Given the description of an element on the screen output the (x, y) to click on. 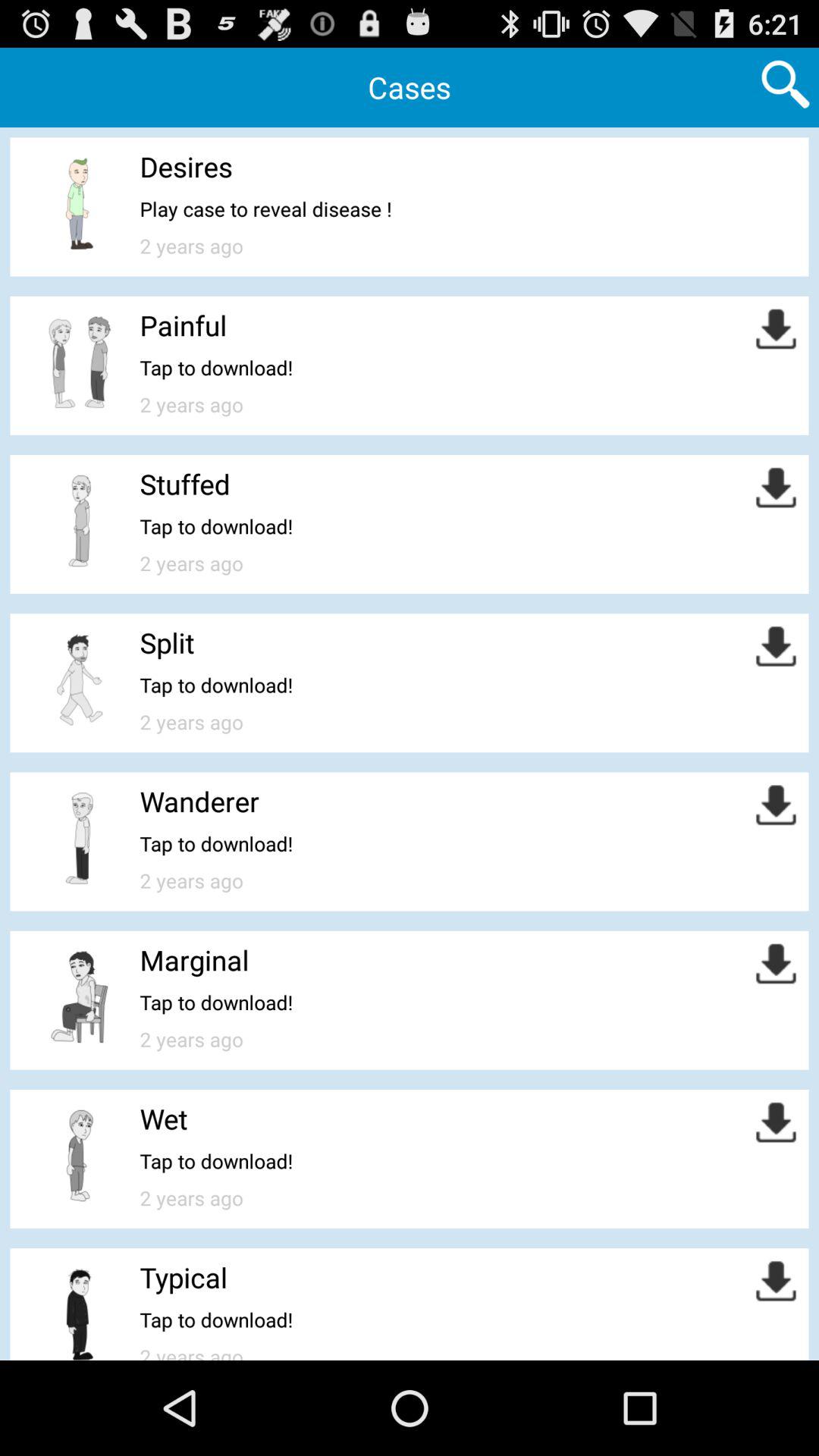
scroll to desires (185, 166)
